Given the description of an element on the screen output the (x, y) to click on. 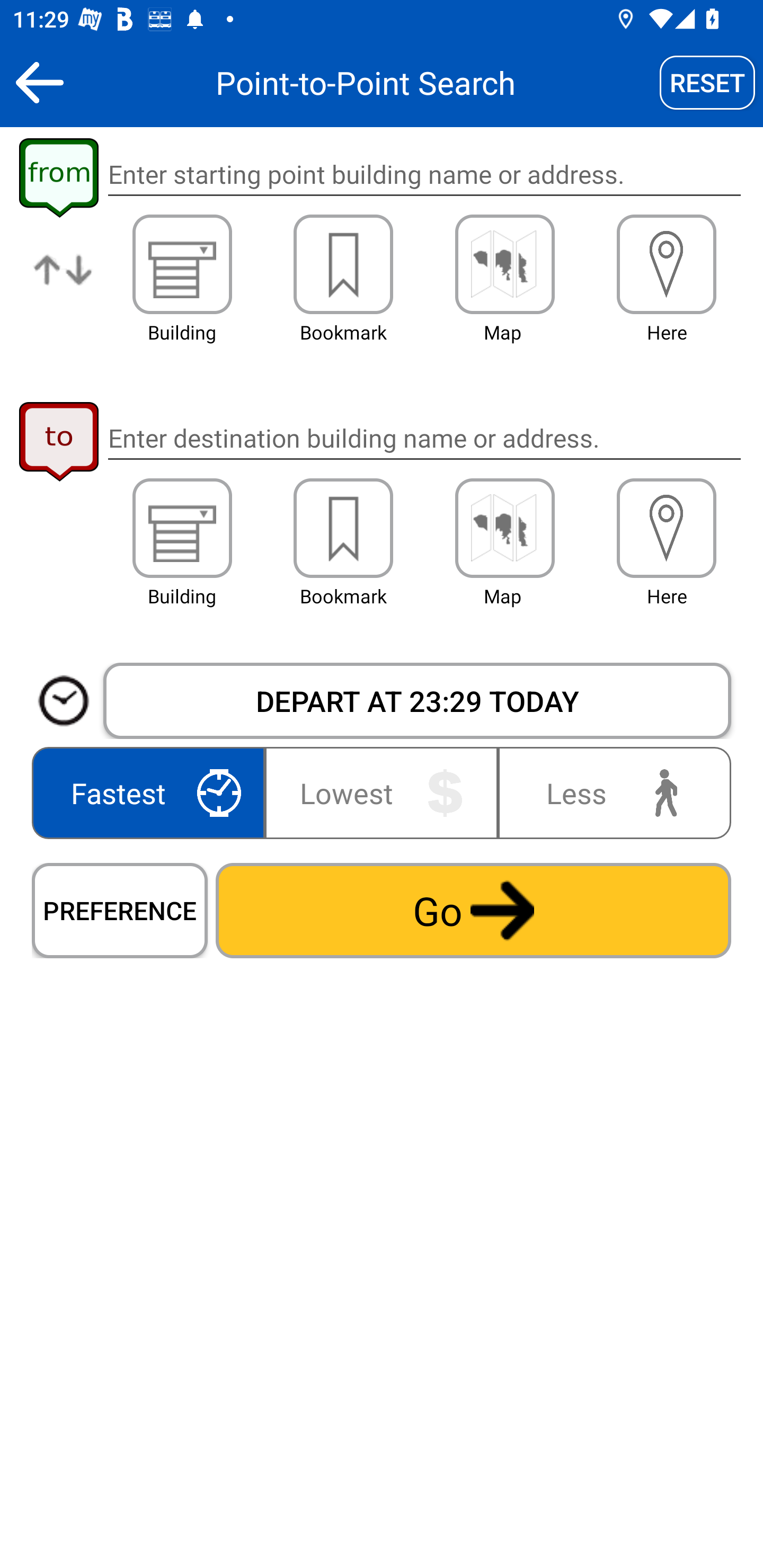
Back (39, 82)
RESET Reset (707, 81)
Enter starting point building name or address. (423, 174)
Building (181, 263)
Bookmarks (342, 263)
Select location on map (504, 263)
Here (666, 263)
Swap origin and destination (63, 284)
Enter destination building name or address. (423, 437)
Building (181, 528)
Bookmarks (342, 528)
Select location on map (504, 528)
Here (666, 528)
Lowest (381, 792)
Fastest selected (151, 792)
Less (610, 792)
PREFERENCE Preference (119, 910)
Go (472, 910)
